Given the description of an element on the screen output the (x, y) to click on. 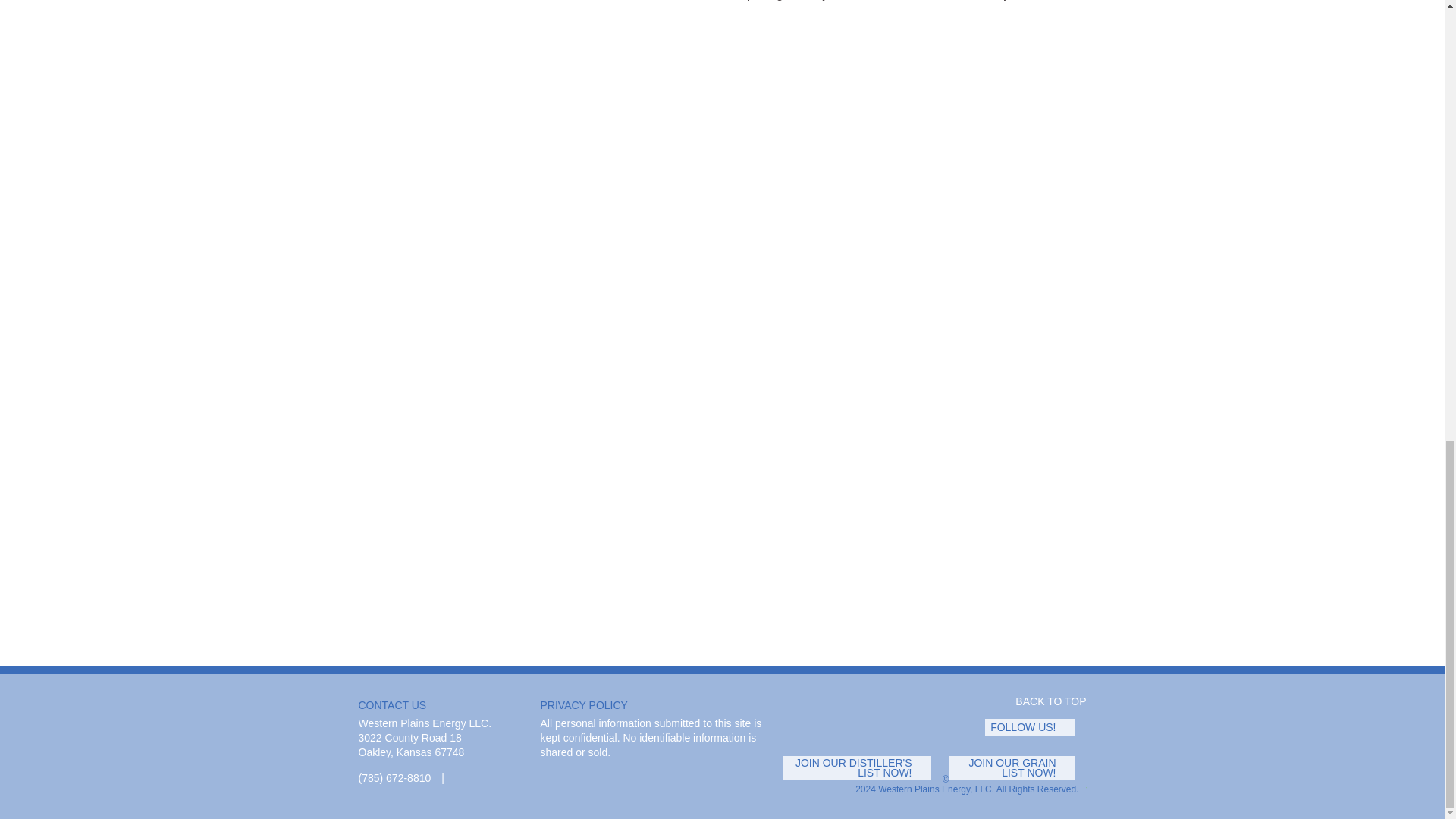
Website design by Entermotion in Wichita, Kansas (1082, 789)
Join Our Grain List Now! (1017, 767)
FOLLOW US! (1035, 727)
Contact Us (460, 777)
BACK TO TOP (1043, 701)
Join Our Distiller's List Now! (862, 767)
Website design by Entermotion in Wichita, Kansas (1082, 789)
JOIN OUR GRAIN LIST NOW! (1017, 767)
JOIN OUR DISTILLER'S LIST NOW! (862, 767)
